Given the description of an element on the screen output the (x, y) to click on. 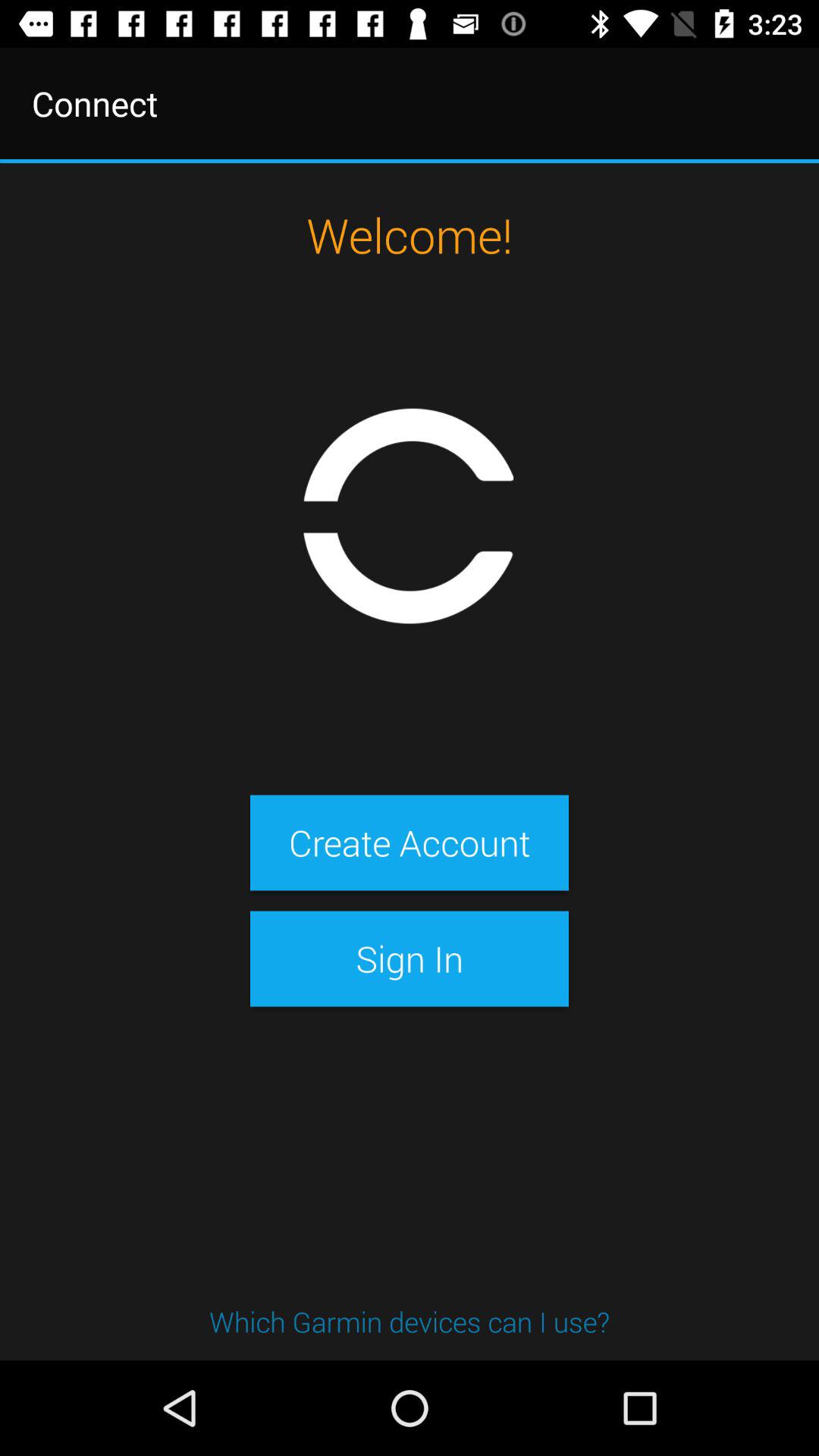
flip to which garmin devices (409, 1321)
